Given the description of an element on the screen output the (x, y) to click on. 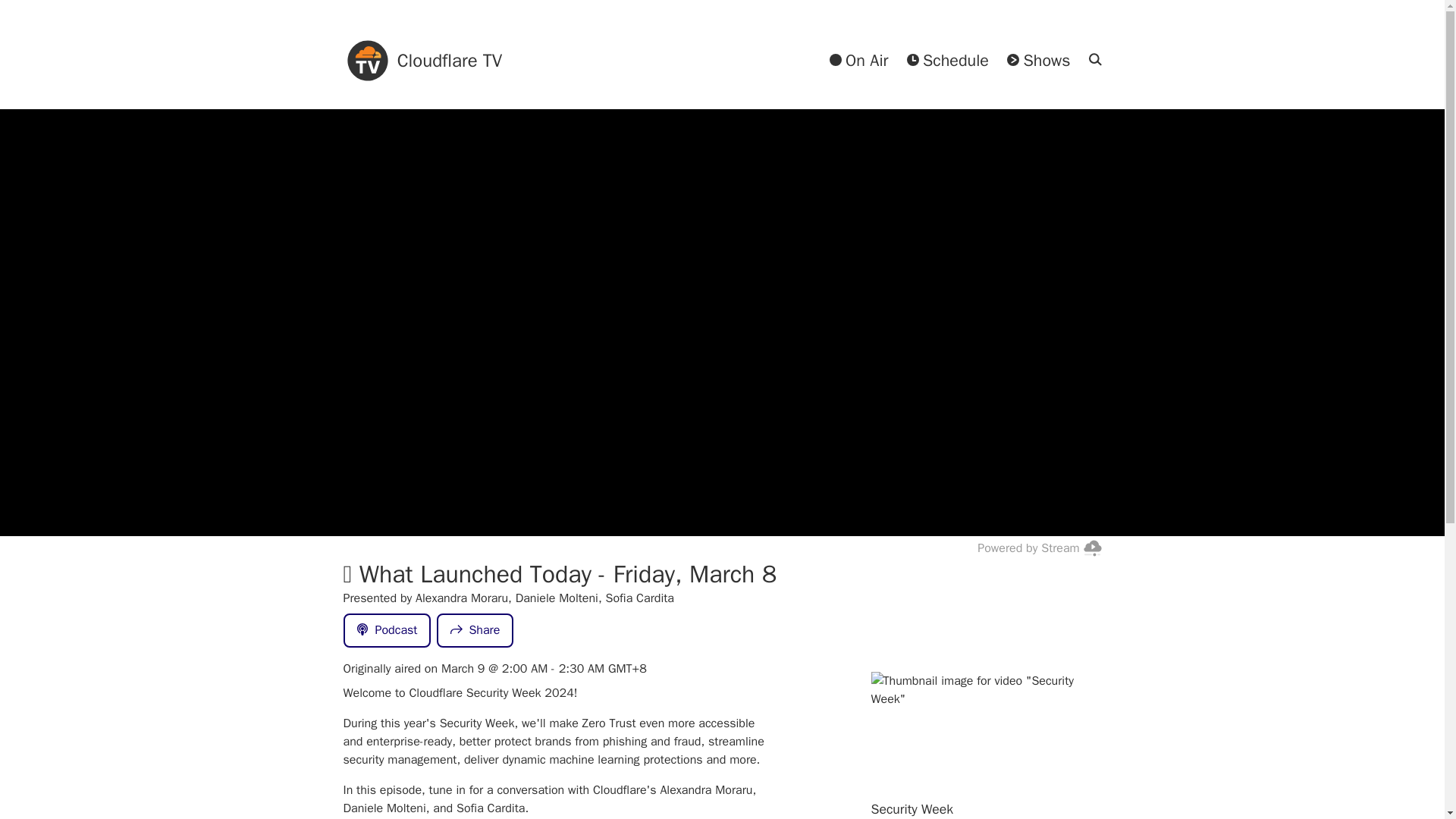
Powered by Stream (1038, 547)
Podcast (386, 630)
Schedule (947, 60)
 Cloudflare TV (422, 60)
Shows (1038, 60)
Share (474, 630)
On Air (858, 60)
